Given the description of an element on the screen output the (x, y) to click on. 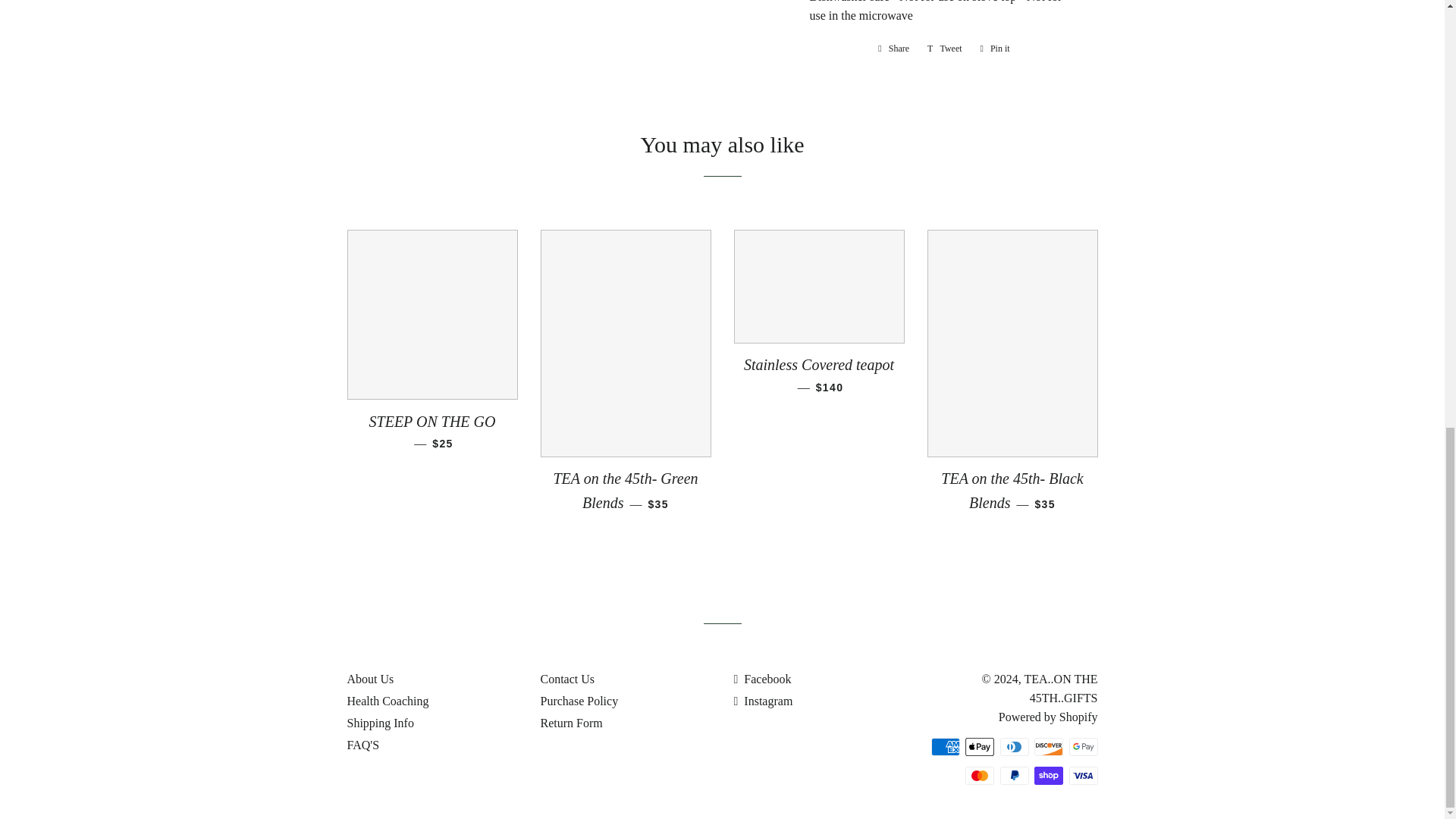
Diners Club (1012, 746)
Shop Pay (1047, 775)
Mastercard (979, 775)
Apple Pay (979, 746)
Tweet on Twitter (944, 48)
TEA..ON THE 45TH..GIFTS on Instagram (944, 48)
American Express (994, 48)
